Given the description of an element on the screen output the (x, y) to click on. 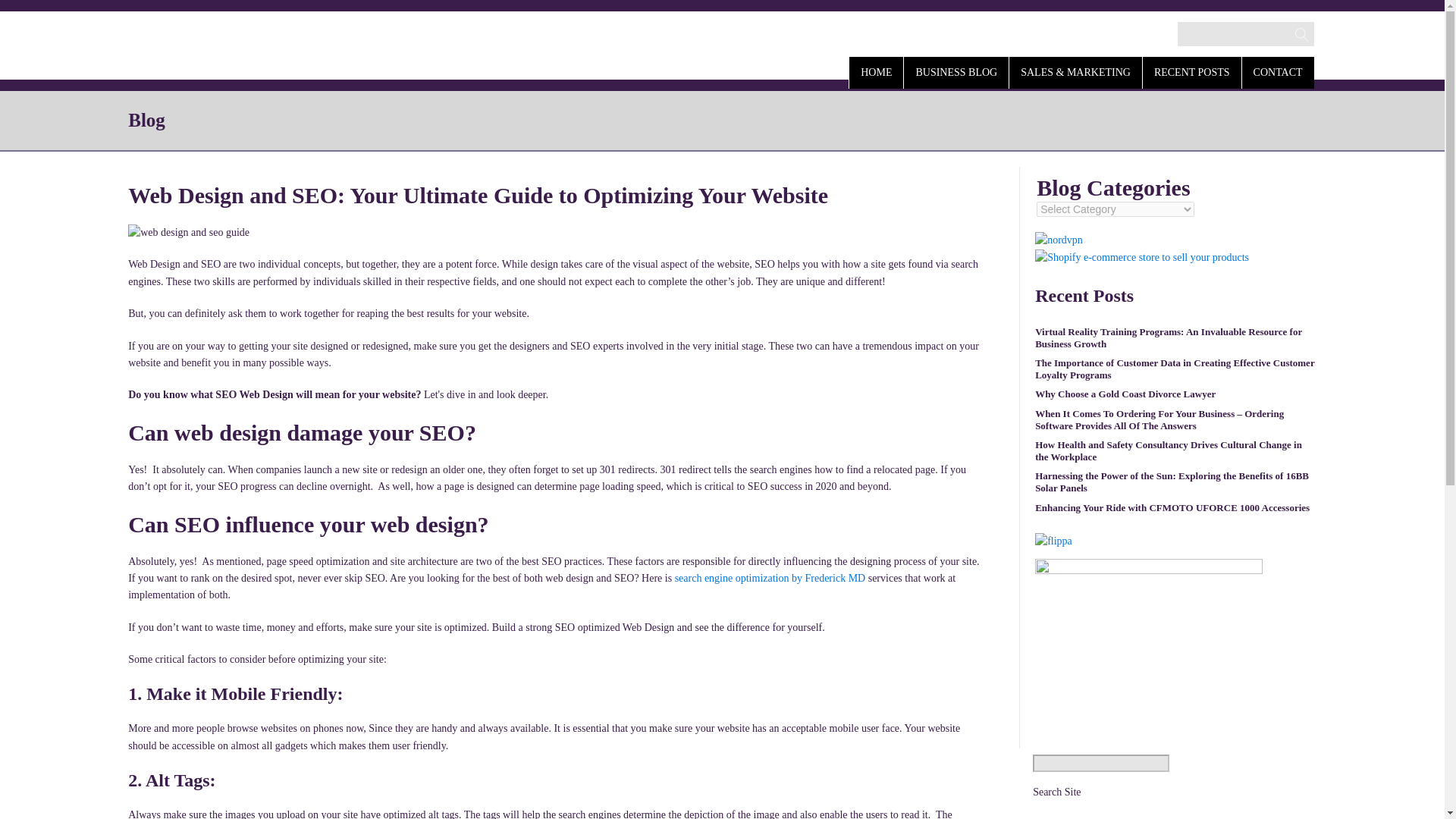
Search (27, 12)
BUSINESS BLOG (956, 71)
HOME (875, 71)
